Given the description of an element on the screen output the (x, y) to click on. 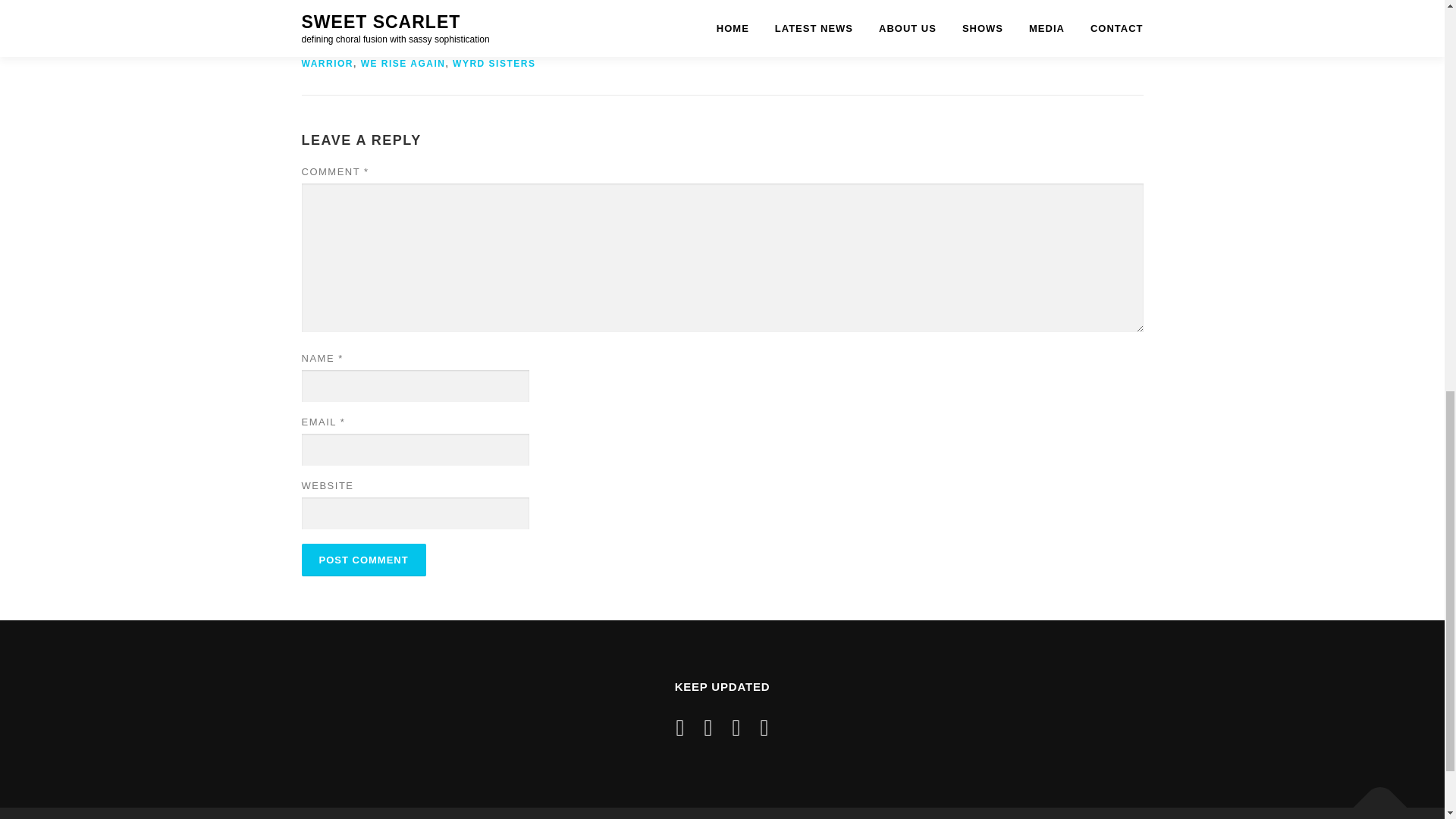
VANCOUVER A CAPPELLA (796, 48)
BLUESHORE FINANCIAL CENTRE FOR THE PERFORMING ARTS (665, 17)
Post Comment (363, 559)
BILLY JOEL (457, 17)
LULLABYE (972, 32)
PACIFIC POST PARTUM SUPPORT SOCIETY (445, 48)
FACEBOOK (331, 32)
UPDATES (389, 2)
MOTHER'S DAY (716, 40)
LINDSAY WILLMS (889, 32)
WE RISE AGAIN (403, 63)
FUNDRAISER (405, 32)
HALLELUJAH (609, 32)
LEONARD COHEN (787, 32)
WARRIOR (327, 63)
